Given the description of an element on the screen output the (x, y) to click on. 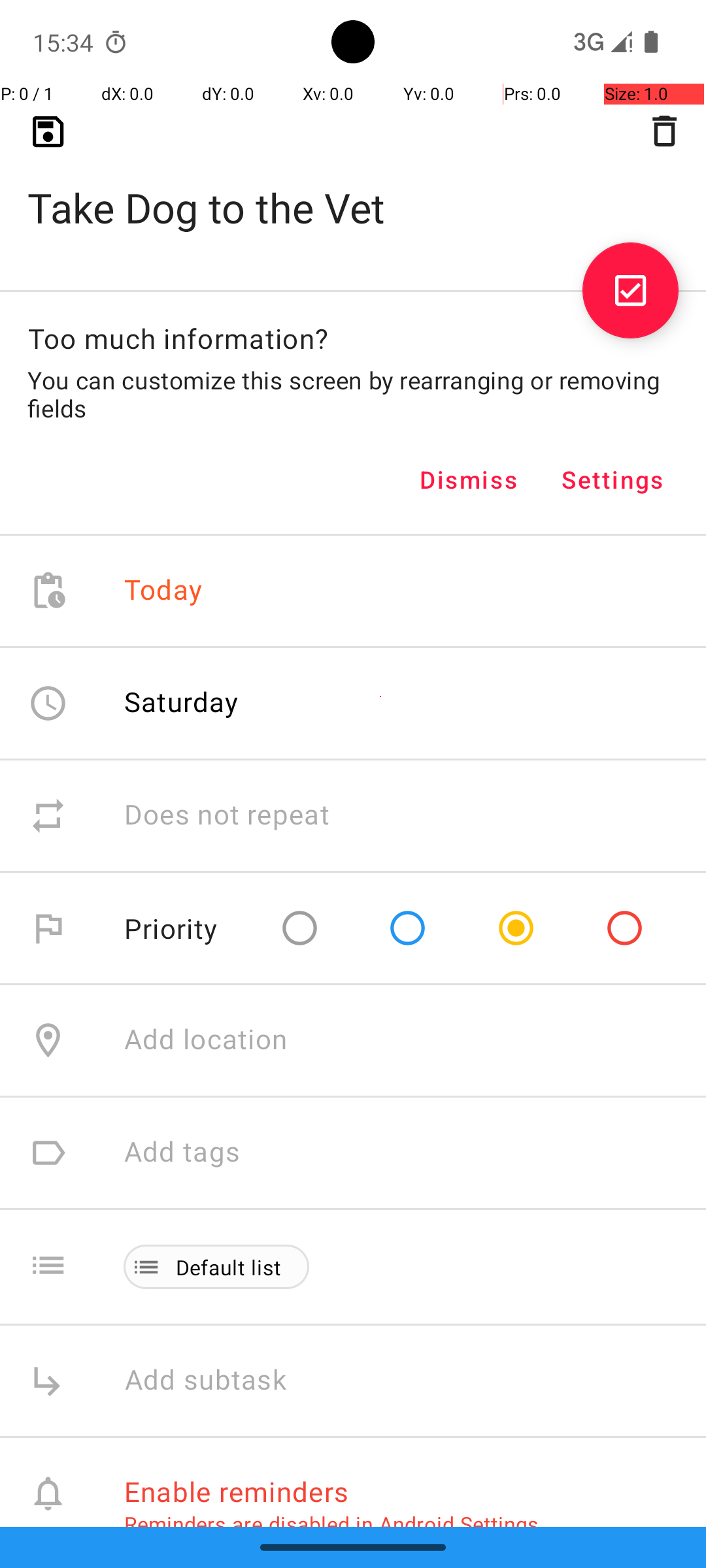
Saturday Element type: android.widget.TextView (181, 700)
